Given the description of an element on the screen output the (x, y) to click on. 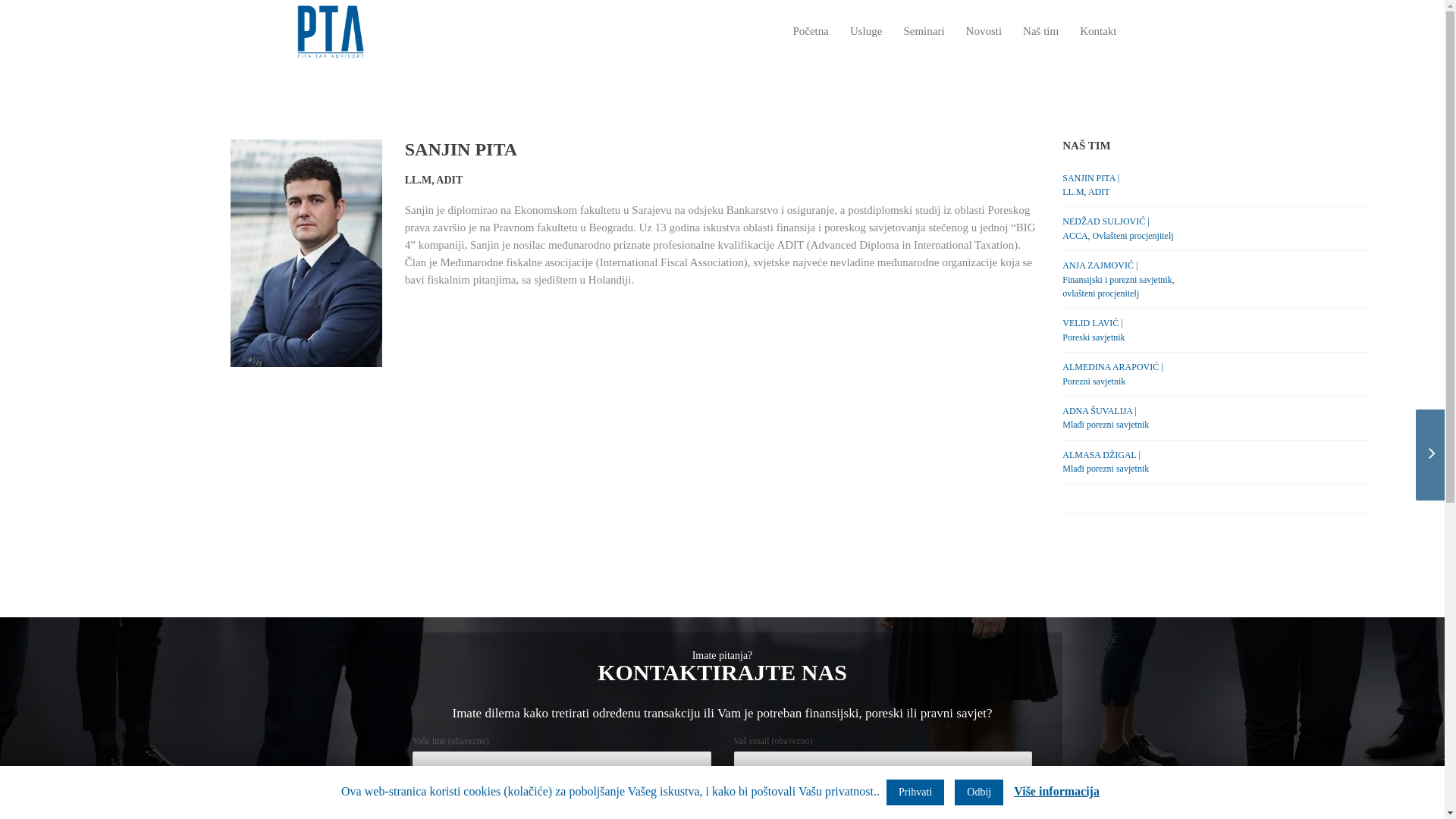
Novosti Element type: text (984, 31)
Kontakt Element type: text (1097, 31)
Usluge Element type: text (866, 31)
Prihvati Element type: text (915, 792)
SANJIN PITA |
LL.M, ADIT Element type: text (1215, 185)
Seminari Element type: text (923, 31)
Odbij Element type: text (978, 792)
